Given the description of an element on the screen output the (x, y) to click on. 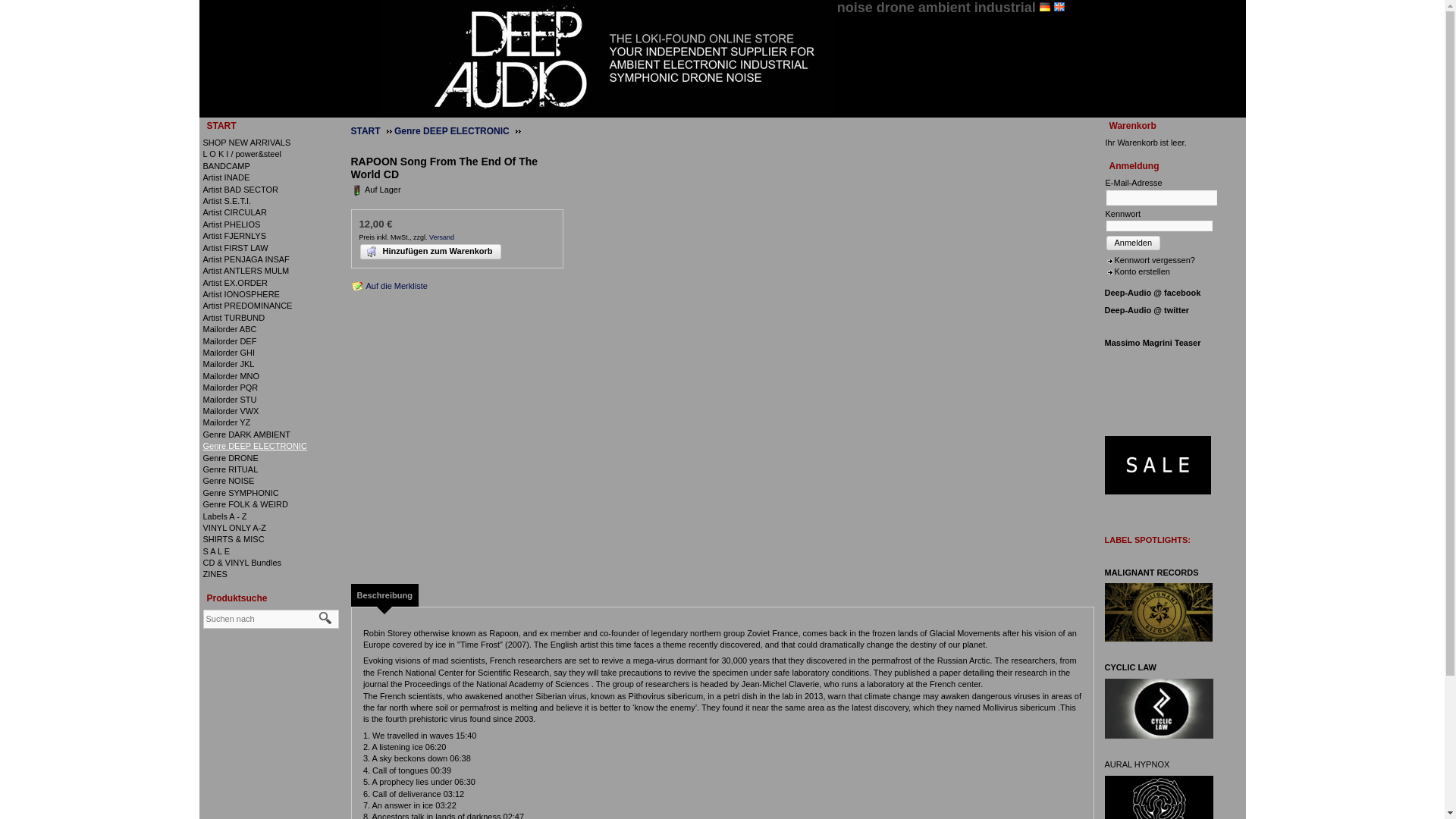
Artist FIRST LAW (235, 247)
Mailorder MNO (231, 375)
Artist EX.ORDER (235, 282)
BANDCAMP (226, 165)
noise drone ambient industrial (936, 7)
Artist IONOSPHERE (241, 293)
Genre DEEP ELECTRONIC (255, 445)
Genre DARK AMBIENT (247, 433)
Artist INADE (226, 176)
Auf die Merkliste (388, 285)
Suche starten (325, 618)
Artist ANTLERS MULM (246, 270)
Mailorder STU (230, 399)
SHOP NEW ARRIVALS (247, 142)
Artist PENJAGA INSAF (246, 258)
